Given the description of an element on the screen output the (x, y) to click on. 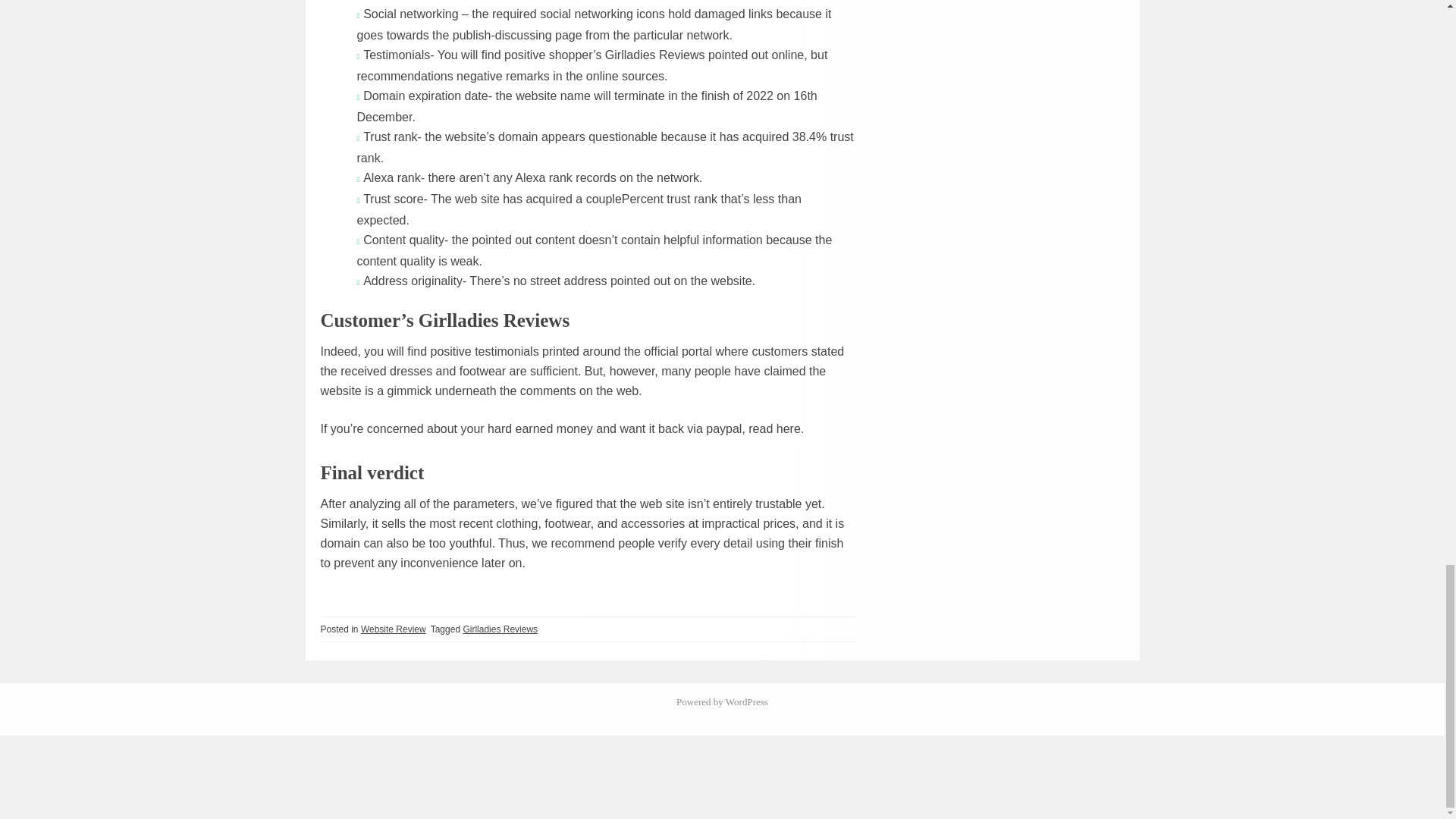
Girlladies Reviews (500, 628)
Website Review (393, 628)
Advertisement (721, 776)
